Given the description of an element on the screen output the (x, y) to click on. 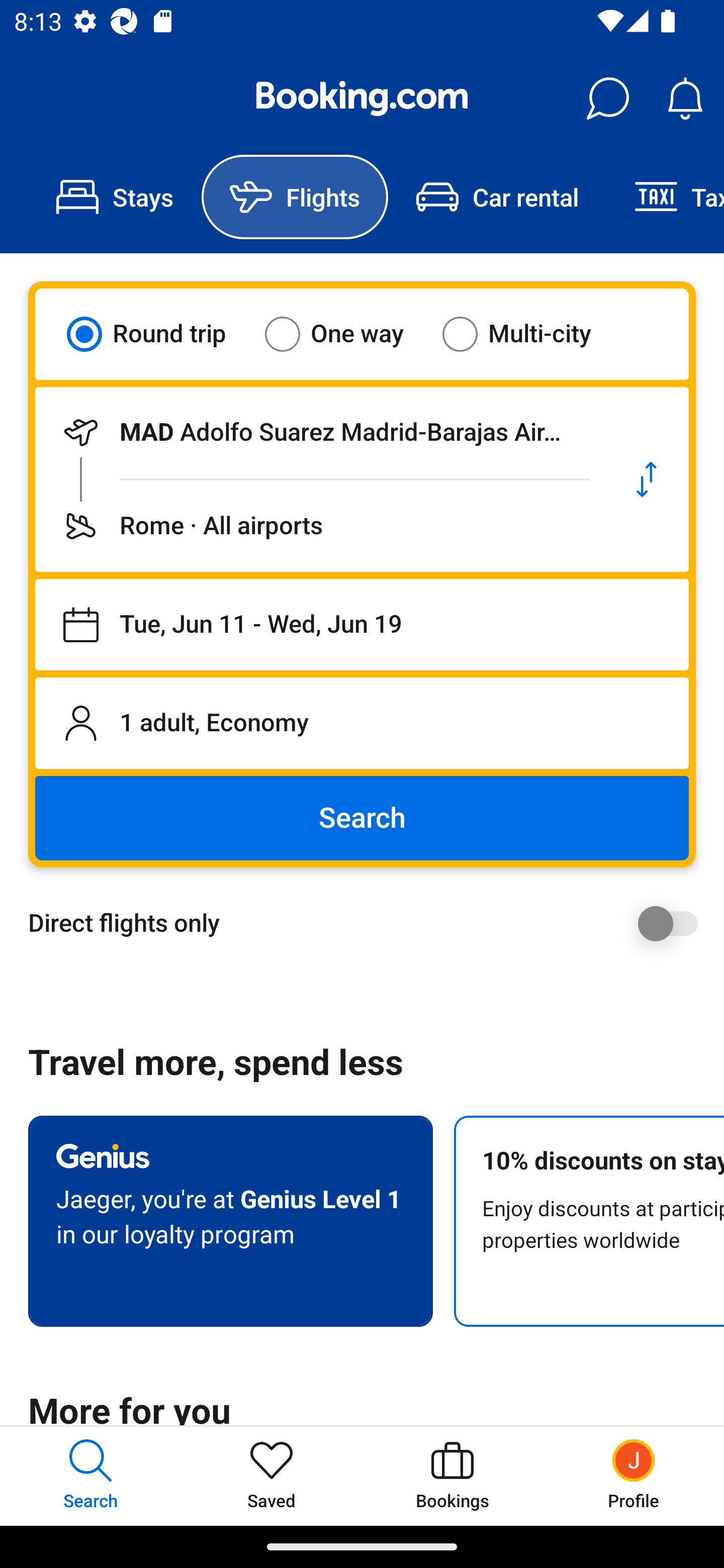
Messages (607, 98)
Notifications (685, 98)
Stays (114, 197)
Flights (294, 197)
Car rental (497, 197)
Taxi (665, 197)
One way (346, 333)
Multi-city (528, 333)
Swap departure location and destination (646, 479)
Flying to Rome · All airports (319, 525)
Departing on Tue, Jun 11, returning on Wed, Jun 19 (361, 624)
1 adult, Economy (361, 722)
Search (361, 818)
Direct flights only (369, 923)
Saved (271, 1475)
Bookings (452, 1475)
Profile (633, 1475)
